Given the description of an element on the screen output the (x, y) to click on. 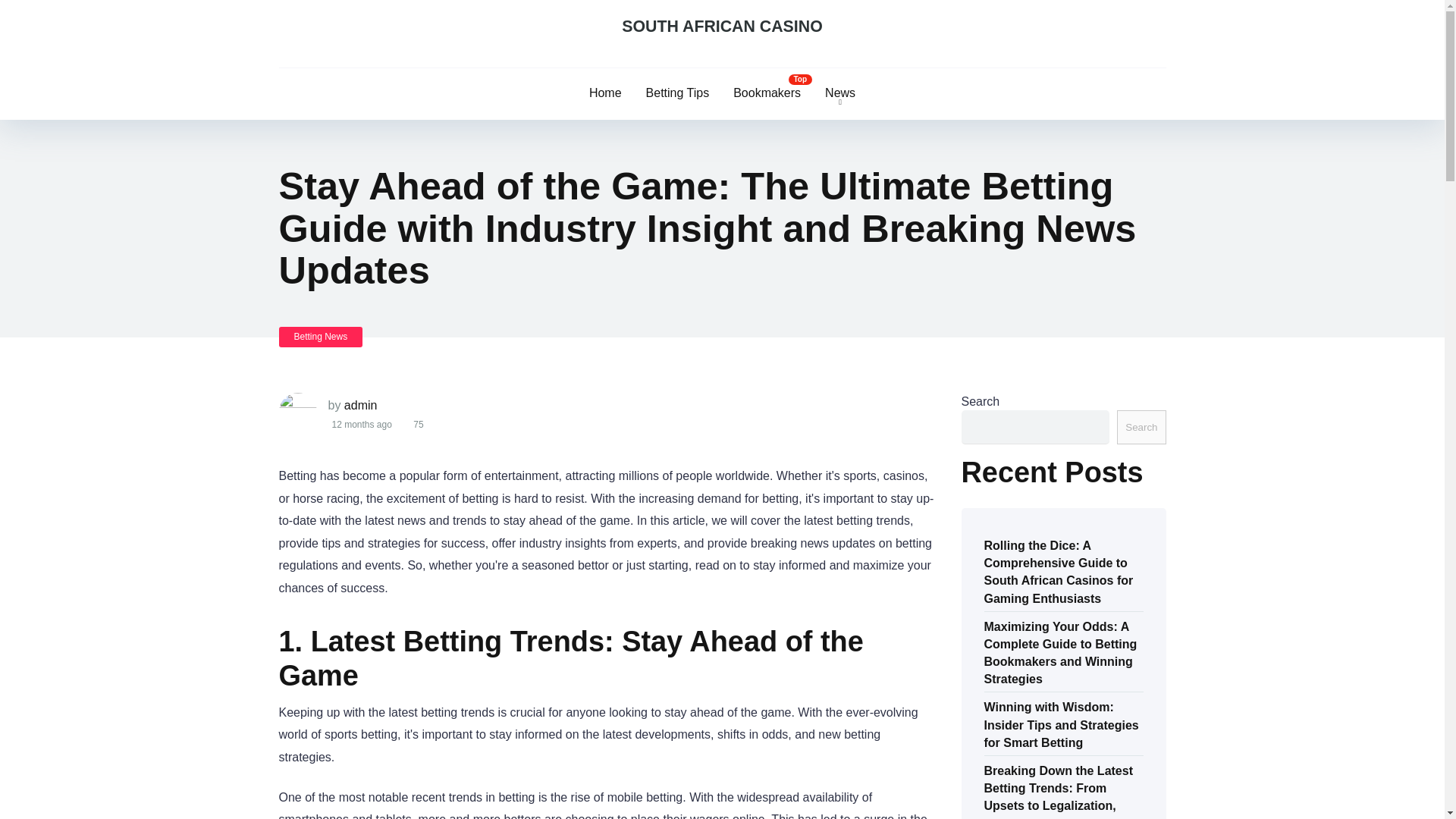
South African Casino (721, 26)
Home (604, 93)
Betting Tips (677, 93)
SOUTH AFRICAN CASINO (721, 26)
Betting News (320, 336)
News (839, 93)
Bookmakers (766, 93)
